Given the description of an element on the screen output the (x, y) to click on. 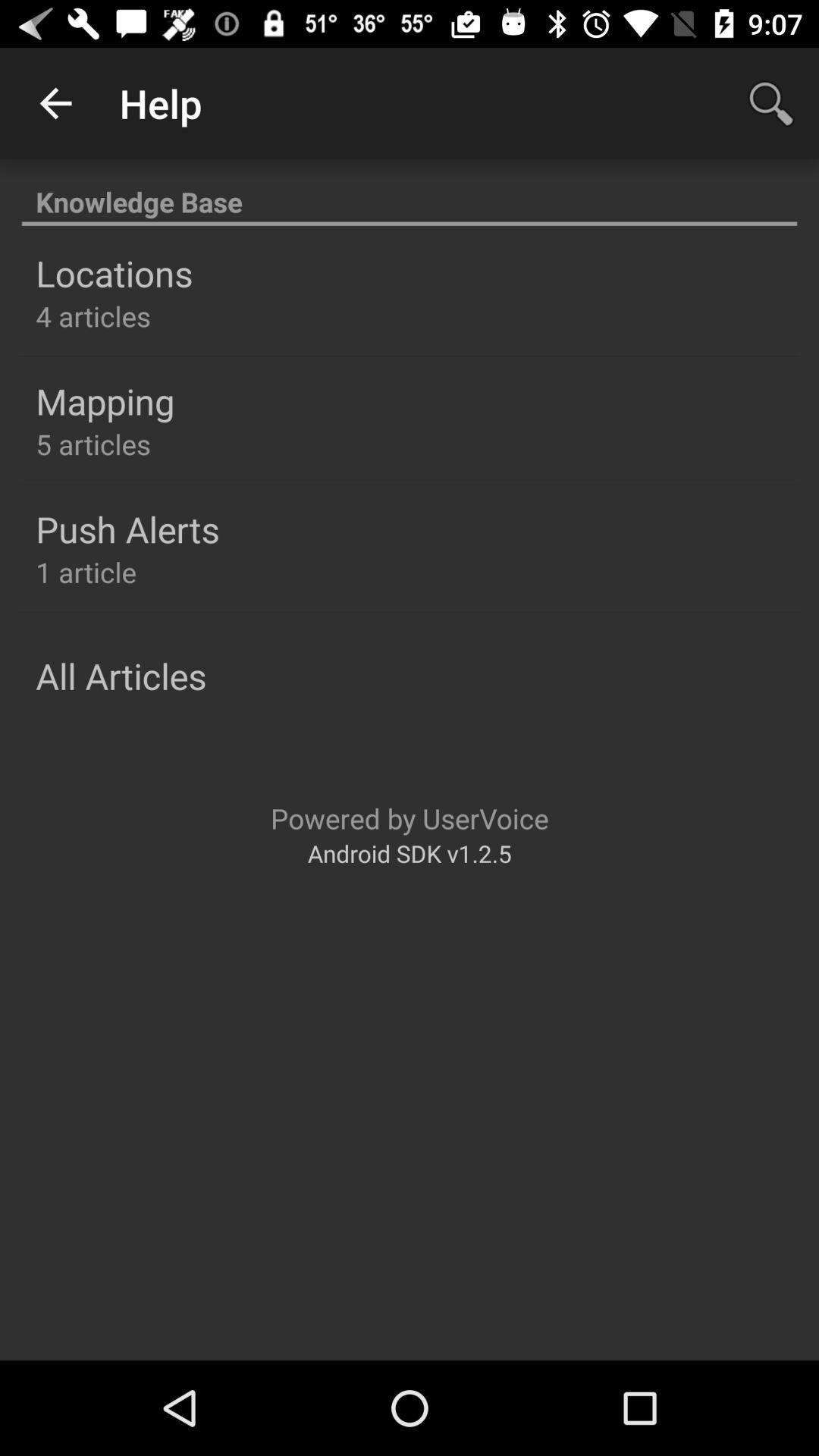
tap the powered by uservoice icon (409, 818)
